Given the description of an element on the screen output the (x, y) to click on. 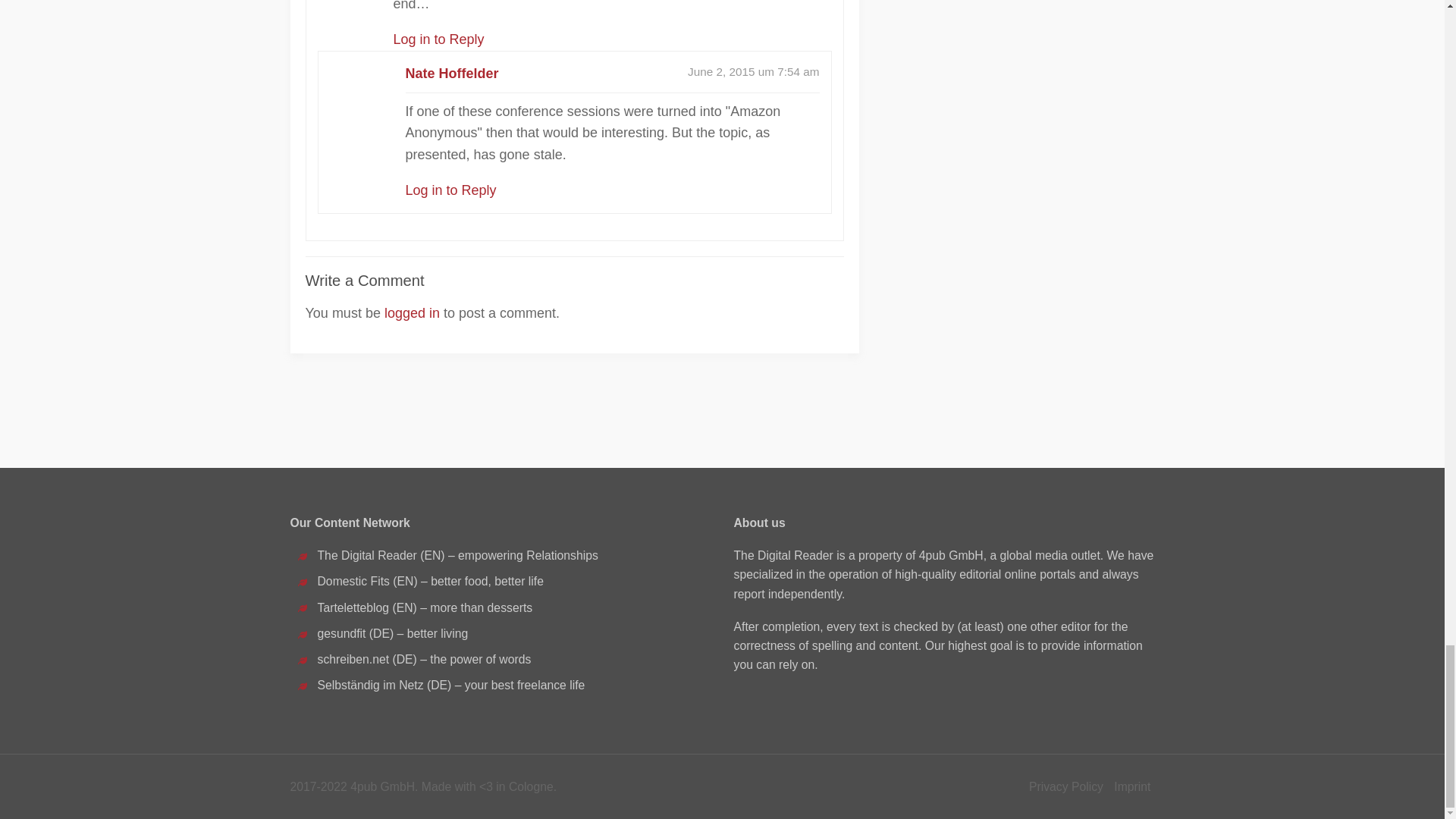
Log in to Reply (450, 190)
Log in to Reply (438, 38)
logged in (411, 313)
